Given the description of an element on the screen output the (x, y) to click on. 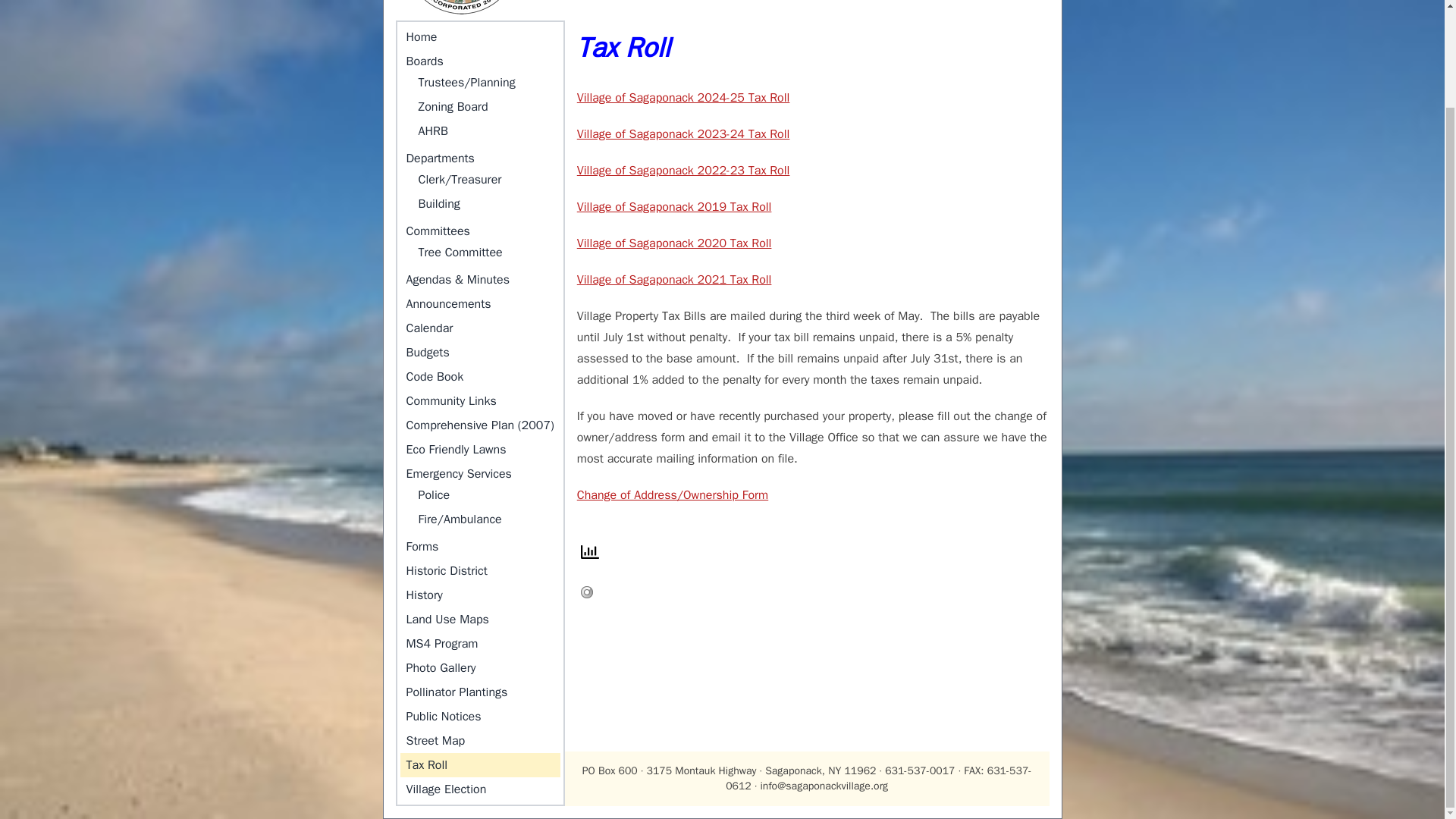
Zoning Board (486, 106)
AHRB (486, 131)
Home (480, 36)
Boards (480, 61)
Departments (480, 158)
